Given the description of an element on the screen output the (x, y) to click on. 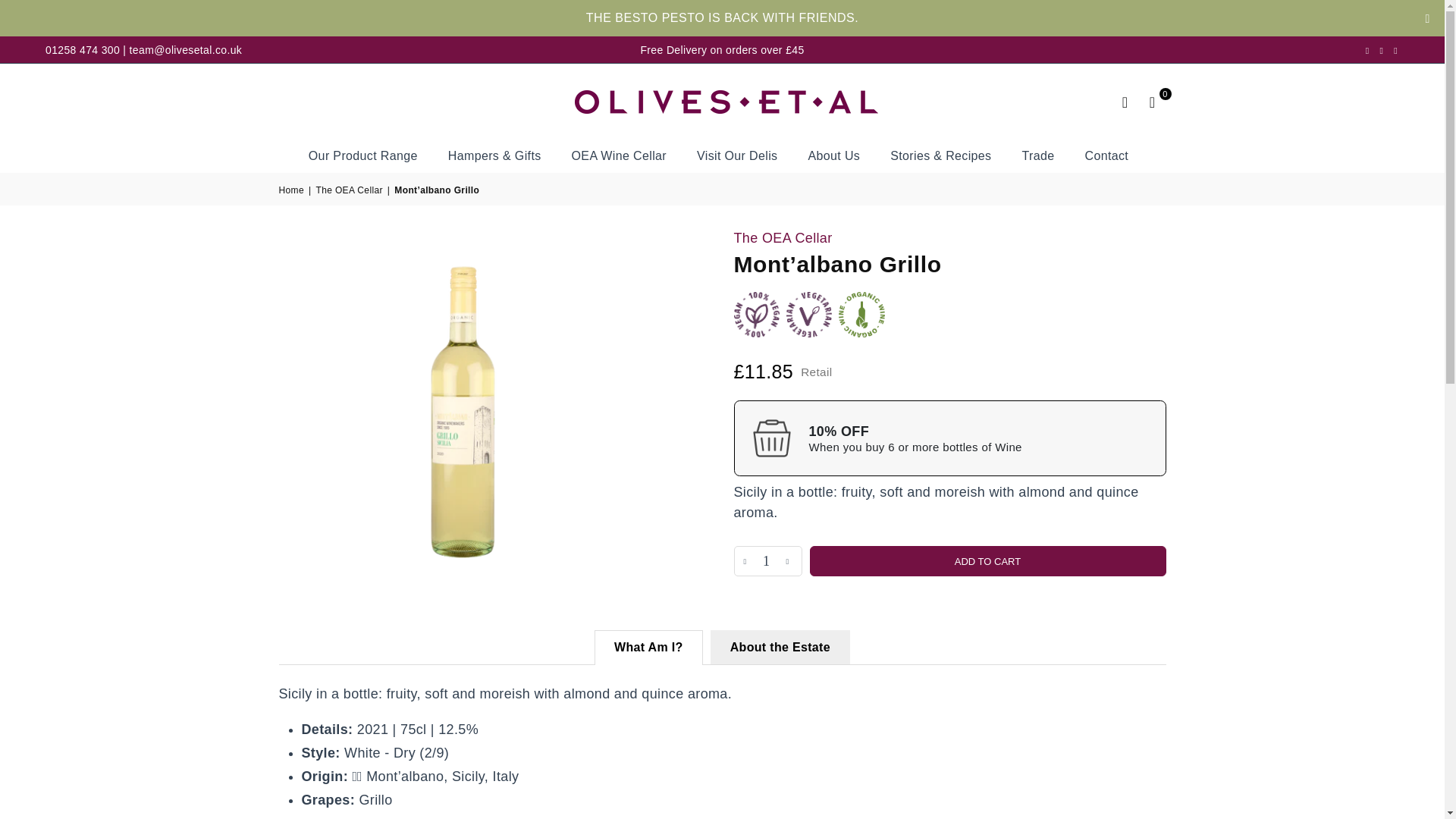
The OEA Cellar (782, 237)
Back to the home page (292, 190)
Quantity (767, 561)
OLIVES ET AL (722, 101)
Olives Et Al on Facebook (1366, 50)
Olives Et Al on Instagram (1381, 50)
0 (1152, 101)
Our Product Range (363, 155)
Instagram (1381, 50)
Cart (1152, 101)
Linkedin (1396, 50)
Olives Et Al on Linkedin (1396, 50)
Search (1125, 101)
Facebook (1366, 50)
